Given the description of an element on the screen output the (x, y) to click on. 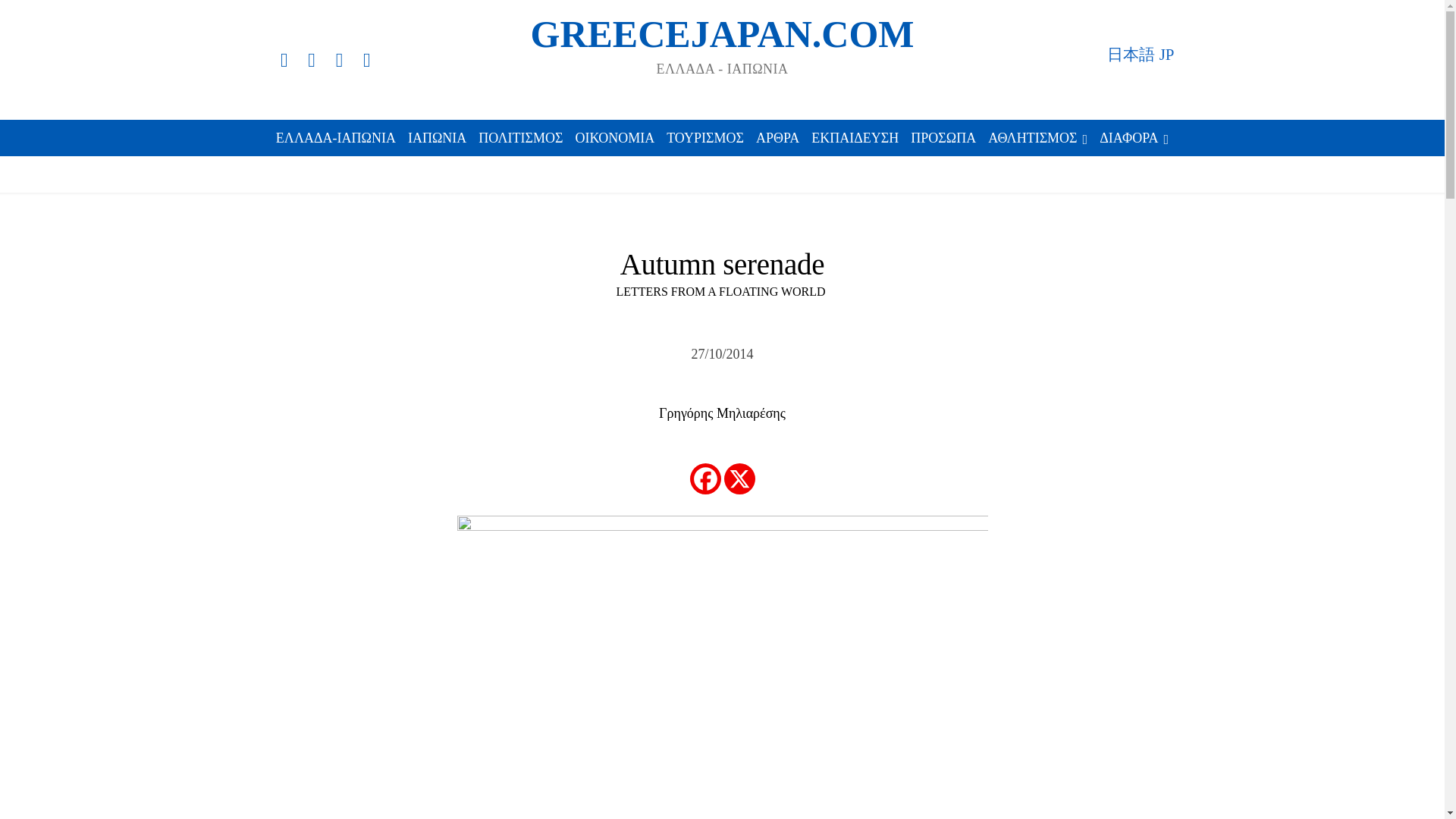
Twitter (338, 59)
Instagram (311, 59)
GREECEJAPAN.COM (722, 41)
Youtube (366, 59)
Facebook (283, 59)
LETTERS FROM A FLOATING WORLD (719, 291)
